Given the description of an element on the screen output the (x, y) to click on. 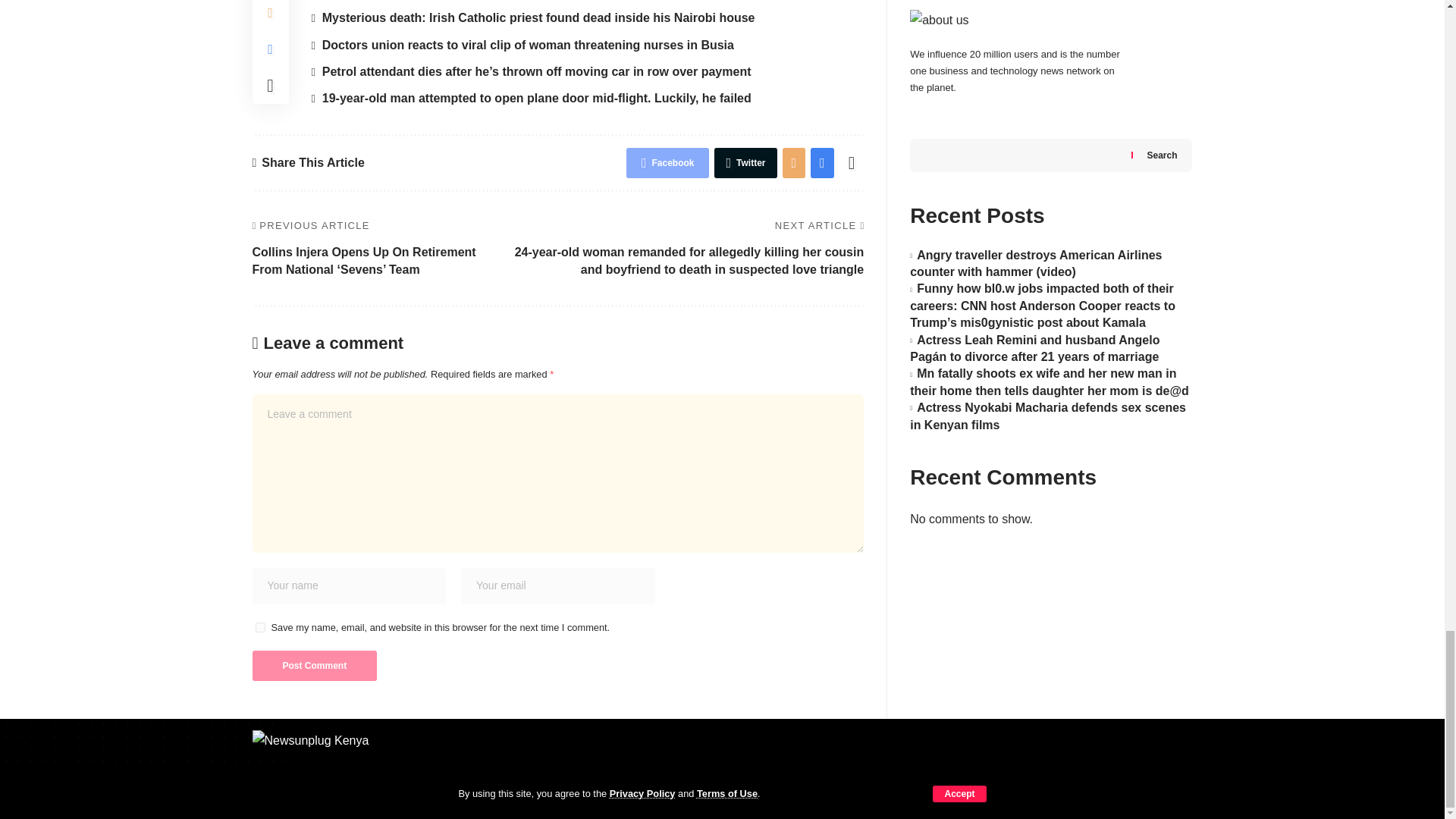
Post Comment (314, 665)
yes (259, 627)
Newsunplug Kenya (314, 749)
